Given the description of an element on the screen output the (x, y) to click on. 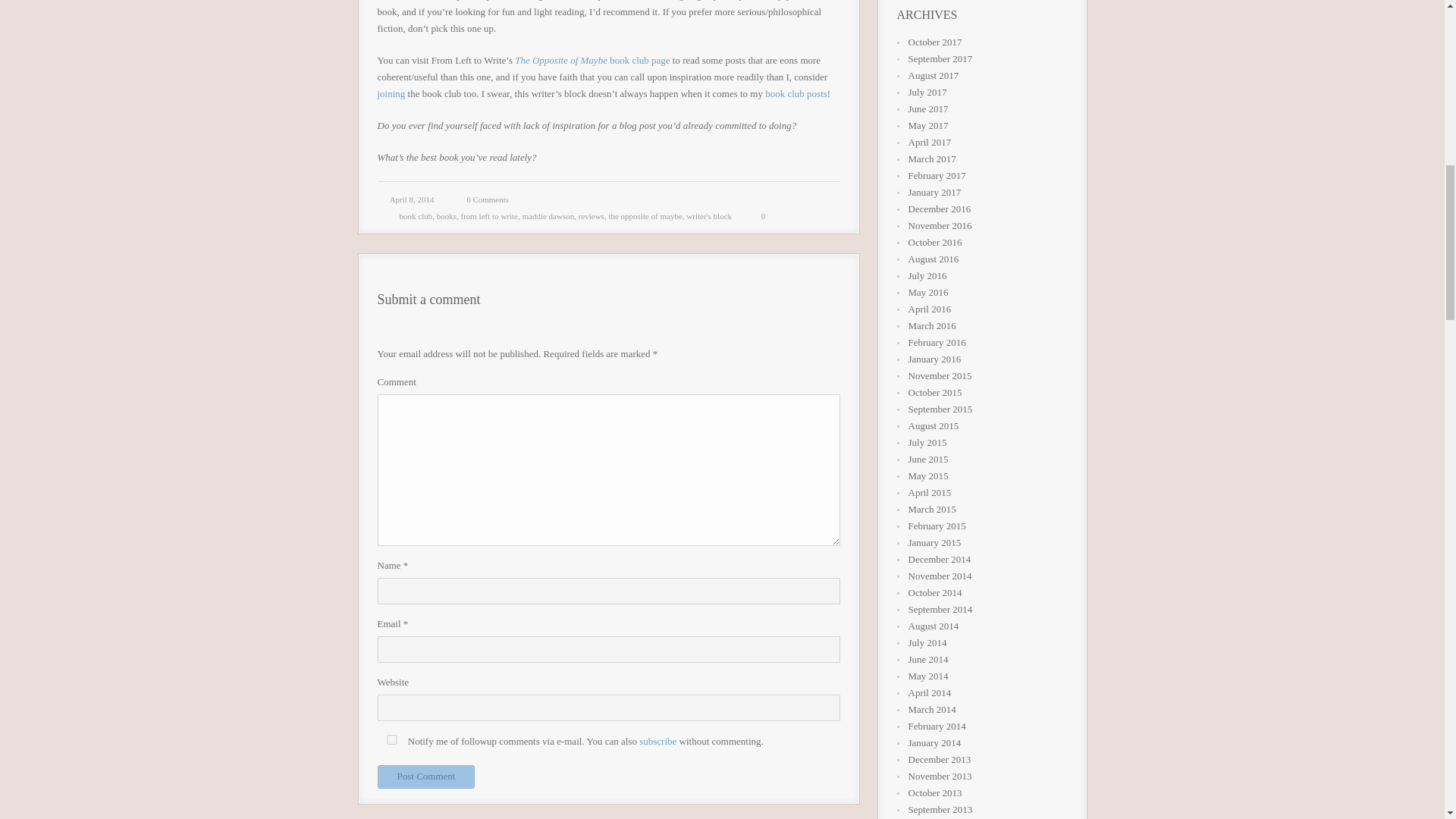
Post Comment (426, 776)
from left to write (488, 215)
subscribe (658, 740)
maddie dawson (547, 215)
yes (391, 739)
books (446, 215)
book club posts (796, 93)
book club (415, 215)
6 Comments (486, 198)
the opposite of maybe (644, 215)
